Given the description of an element on the screen output the (x, y) to click on. 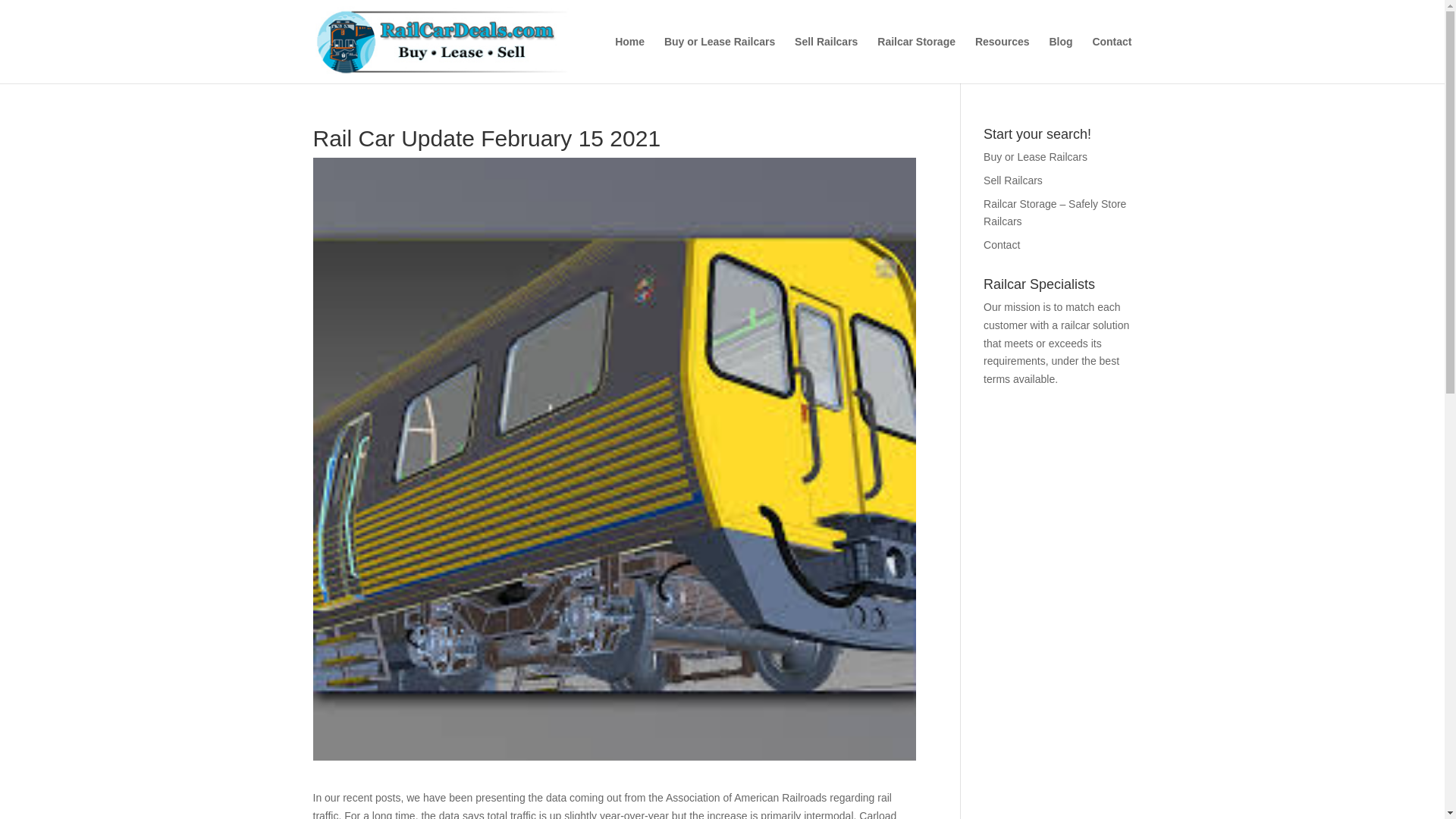
Sell Railcars (825, 59)
Buy or Lease Railcars (718, 59)
Railcar Storage (916, 59)
Contact (1002, 244)
Buy or Lease Railcars (1035, 156)
Resources (1002, 59)
Sell Railcars (1013, 180)
